Given the description of an element on the screen output the (x, y) to click on. 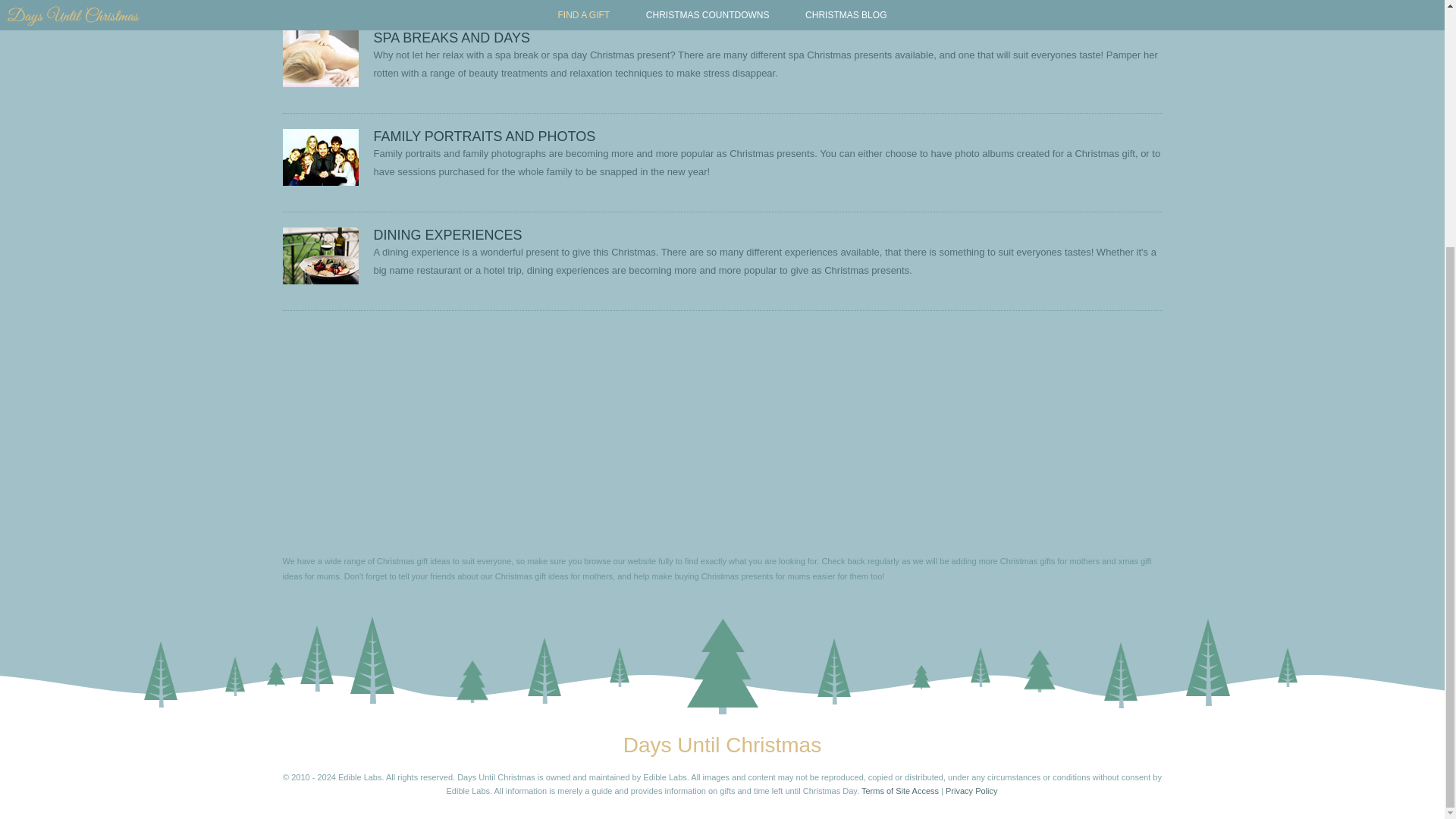
FAMILY PORTRAITS AND PHOTOS (483, 136)
SPA BREAKS AND DAYS (450, 37)
DINING EXPERIENCES (446, 234)
